Given the description of an element on the screen output the (x, y) to click on. 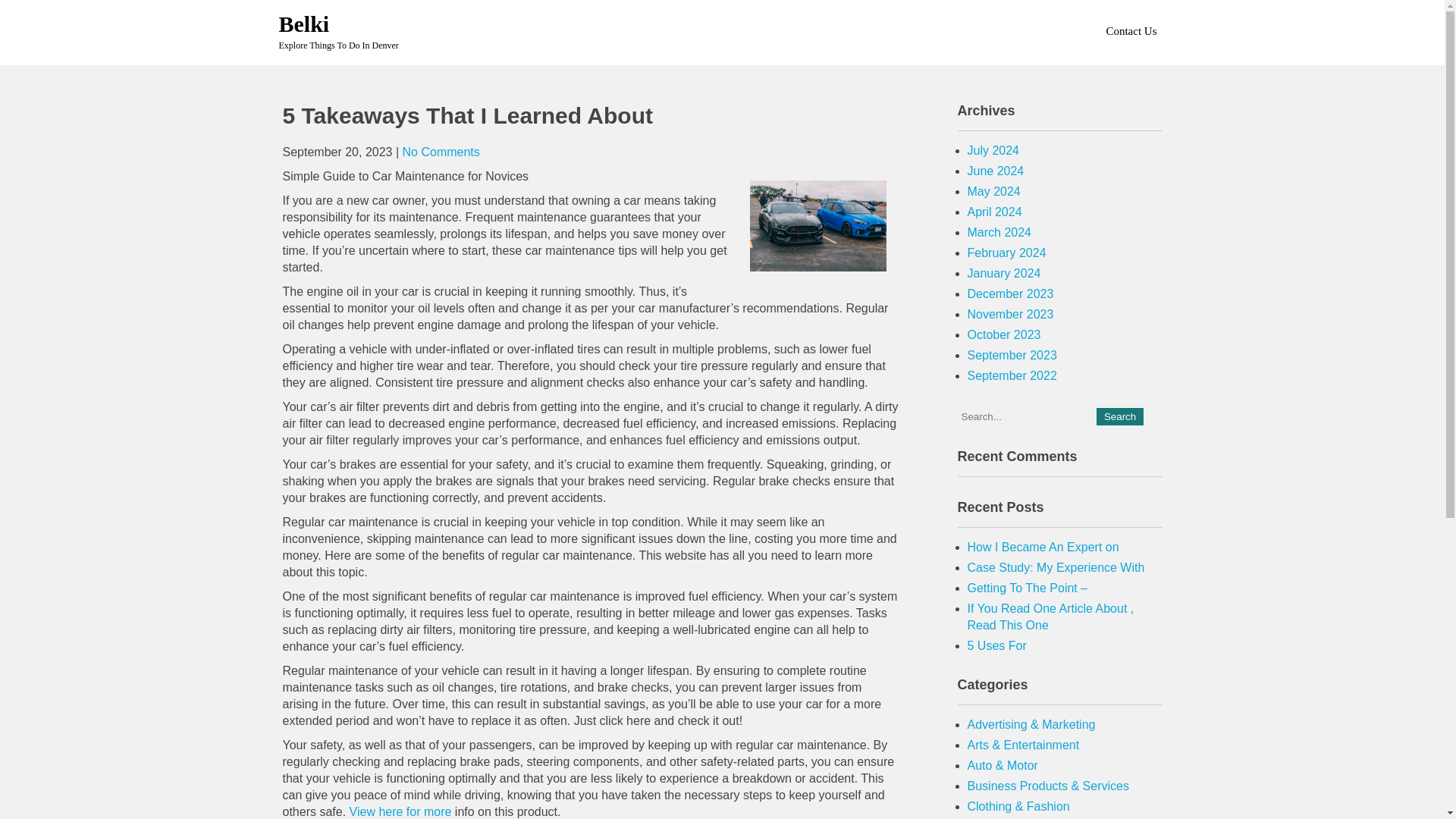
January 2024 (1004, 273)
Belki (304, 23)
Search (1119, 416)
5 Uses For (997, 645)
How I Became An Expert on (1043, 546)
March 2024 (1000, 232)
December 2023 (1011, 293)
Search (1119, 416)
Case Study: My Experience With (1056, 567)
View here for more (400, 811)
Search (1119, 416)
February 2024 (1007, 252)
October 2023 (1004, 334)
June 2024 (996, 170)
Contact Us (1130, 30)
